Given the description of an element on the screen output the (x, y) to click on. 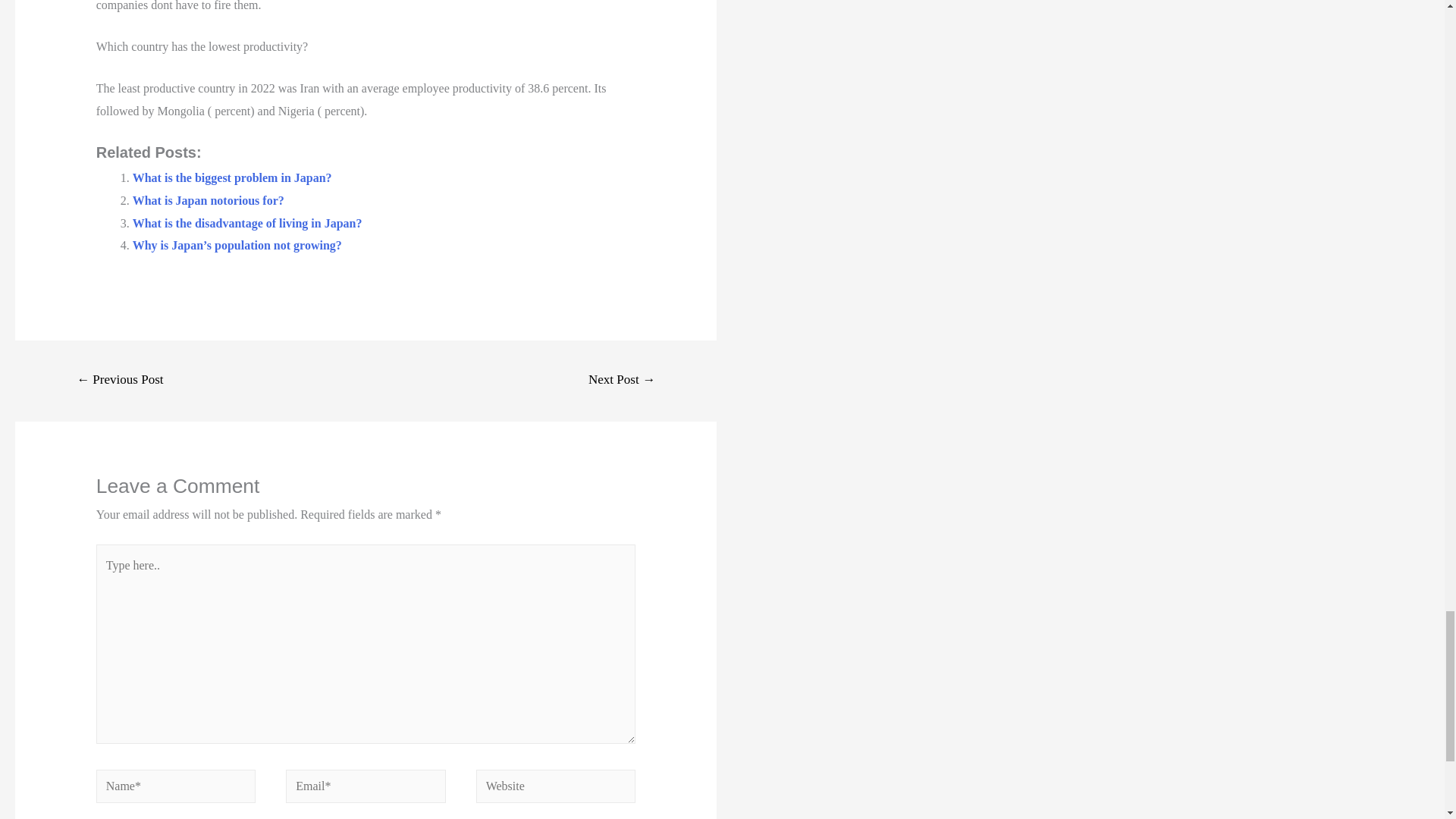
What is the disadvantage of living in Japan? (247, 223)
What is Japan notorious for? (207, 200)
What is the disadvantage of living in Japan? (247, 223)
What is the biggest problem in Japan? (231, 177)
What is the biggest problem in Japan? (231, 177)
What is Japan notorious for? (207, 200)
